Given the description of an element on the screen output the (x, y) to click on. 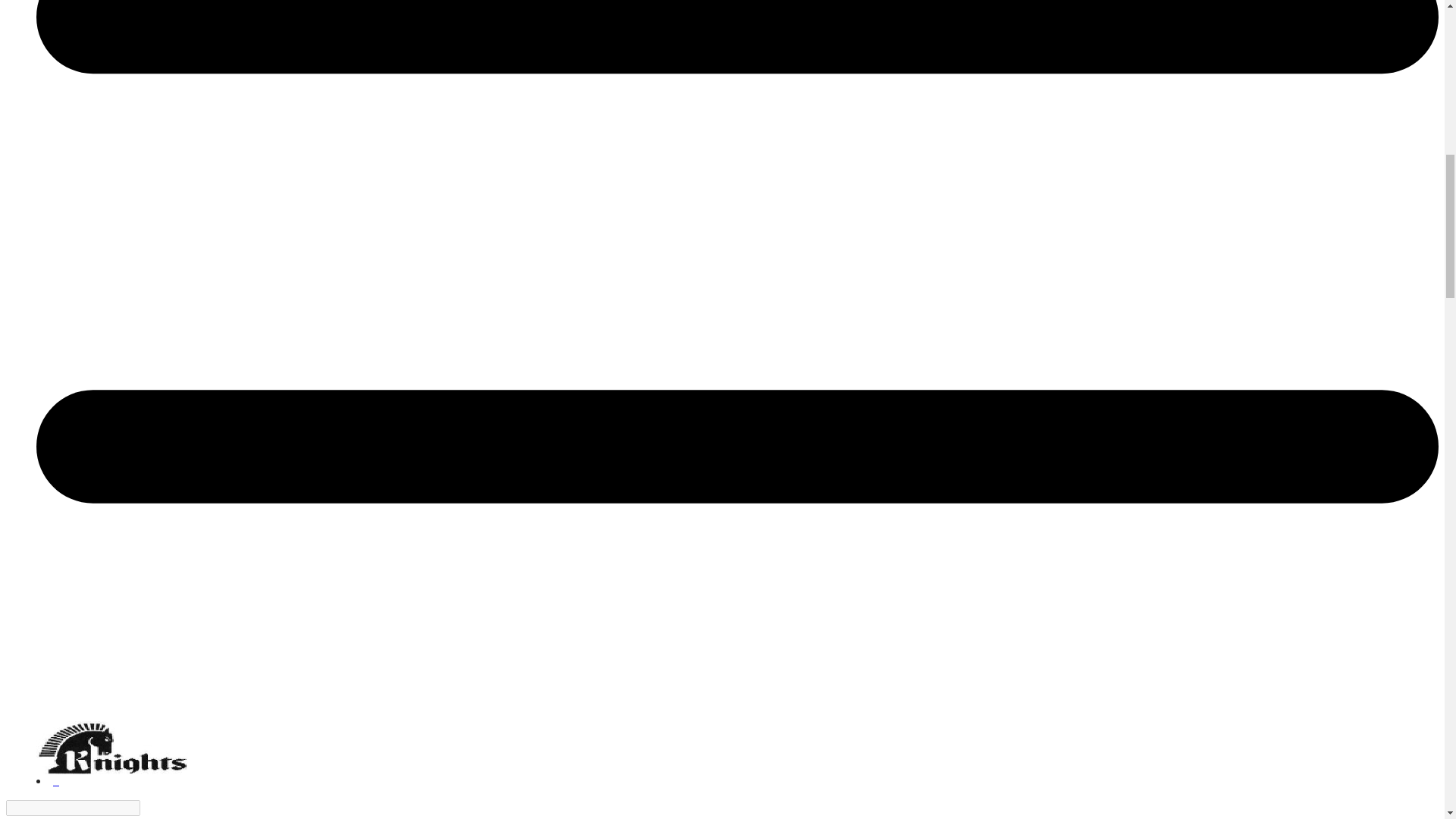
Find (148, 807)
